Given the description of an element on the screen output the (x, y) to click on. 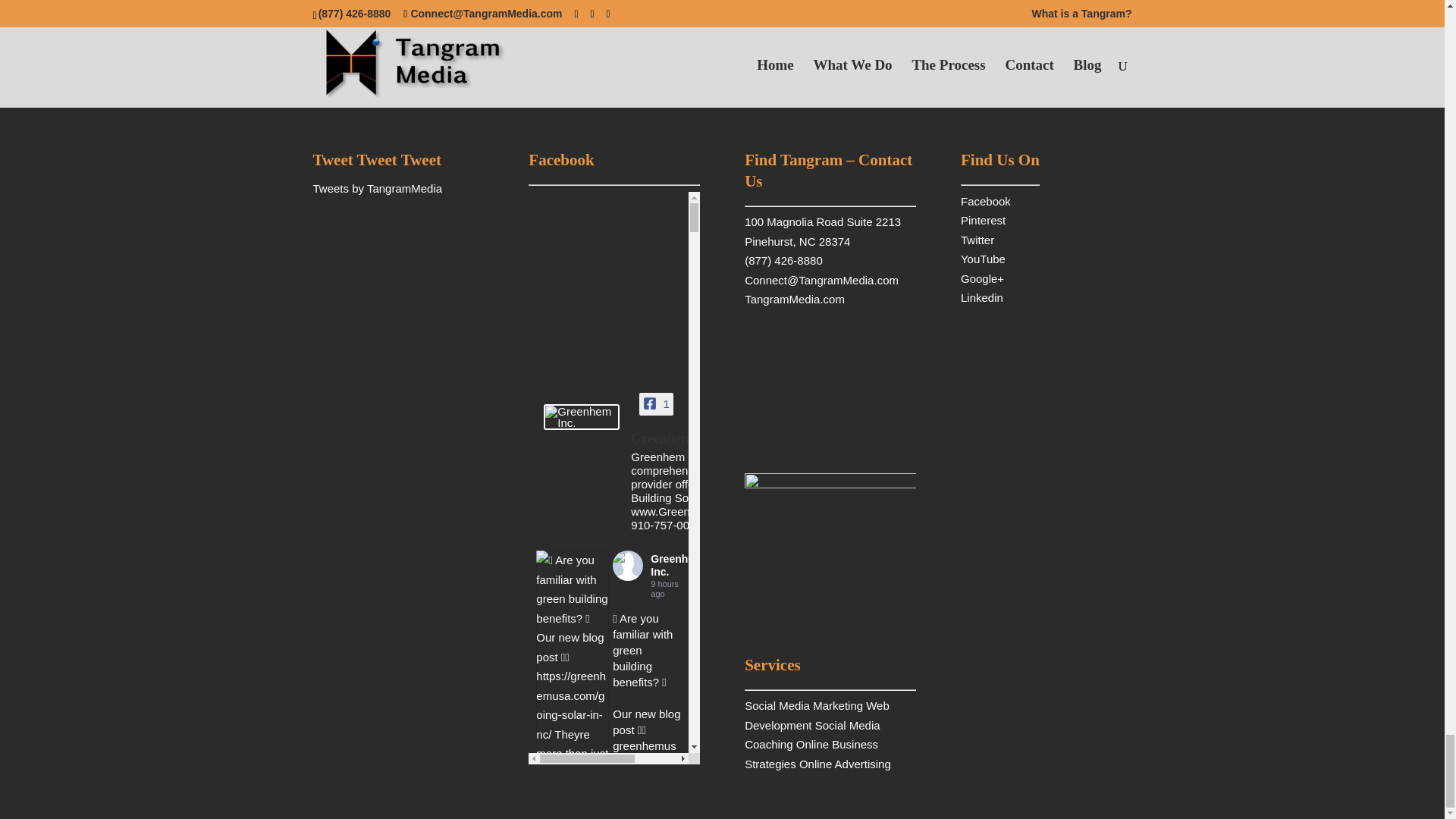
Greenhem Inc. (679, 439)
Greenhem Inc. (581, 416)
Social Media Training NC (794, 298)
